Given the description of an element on the screen output the (x, y) to click on. 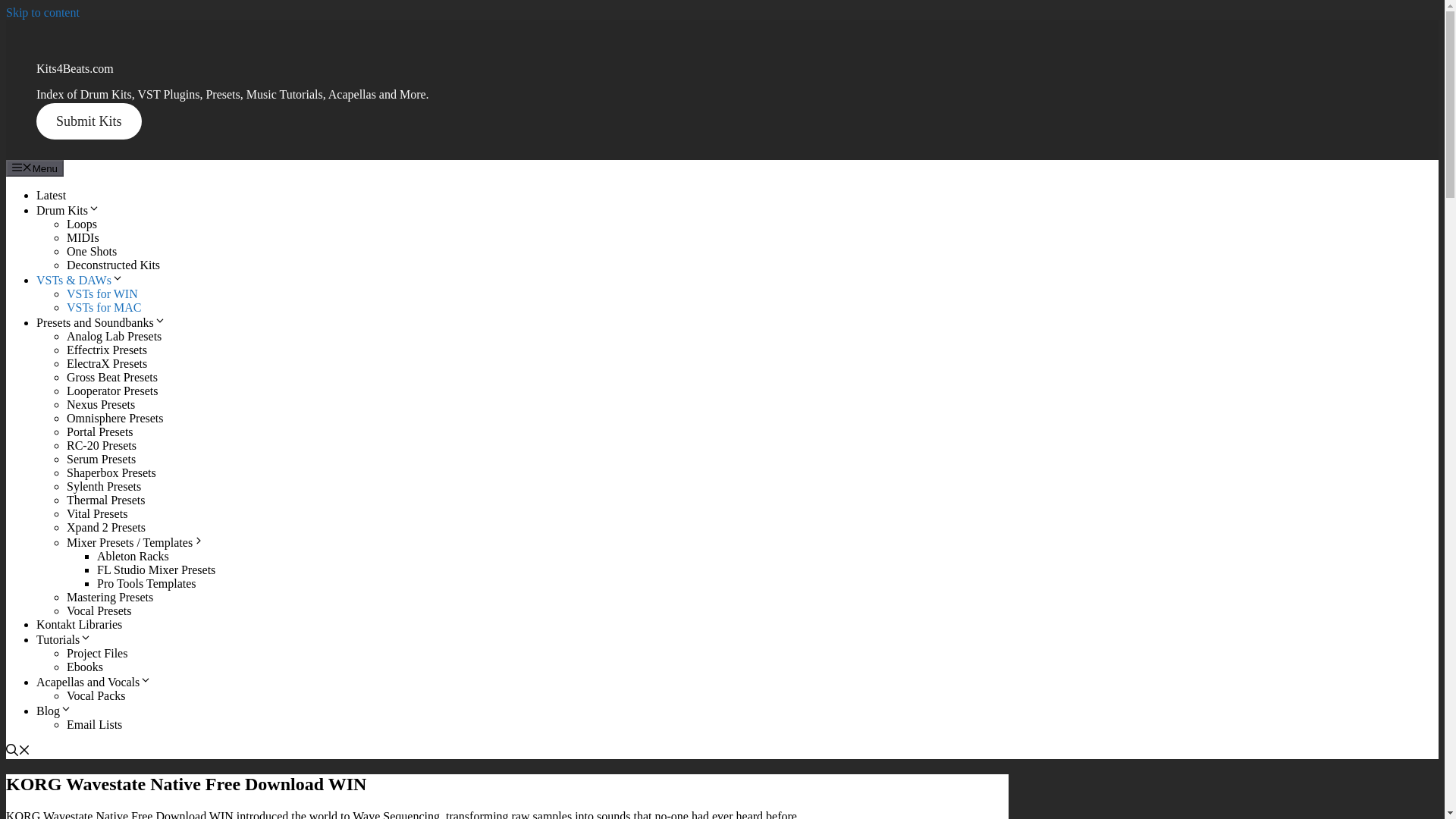
Skip to content (42, 11)
Pro Tools Templates (146, 583)
Deconstructed Kits (113, 264)
Sylenth Presets (103, 486)
MIDIs (82, 237)
Loops (81, 223)
Drum Kits (68, 210)
RC-20 Presets (101, 445)
Nexus Presets (100, 404)
Xpand 2 Presets (105, 526)
